Given the description of an element on the screen output the (x, y) to click on. 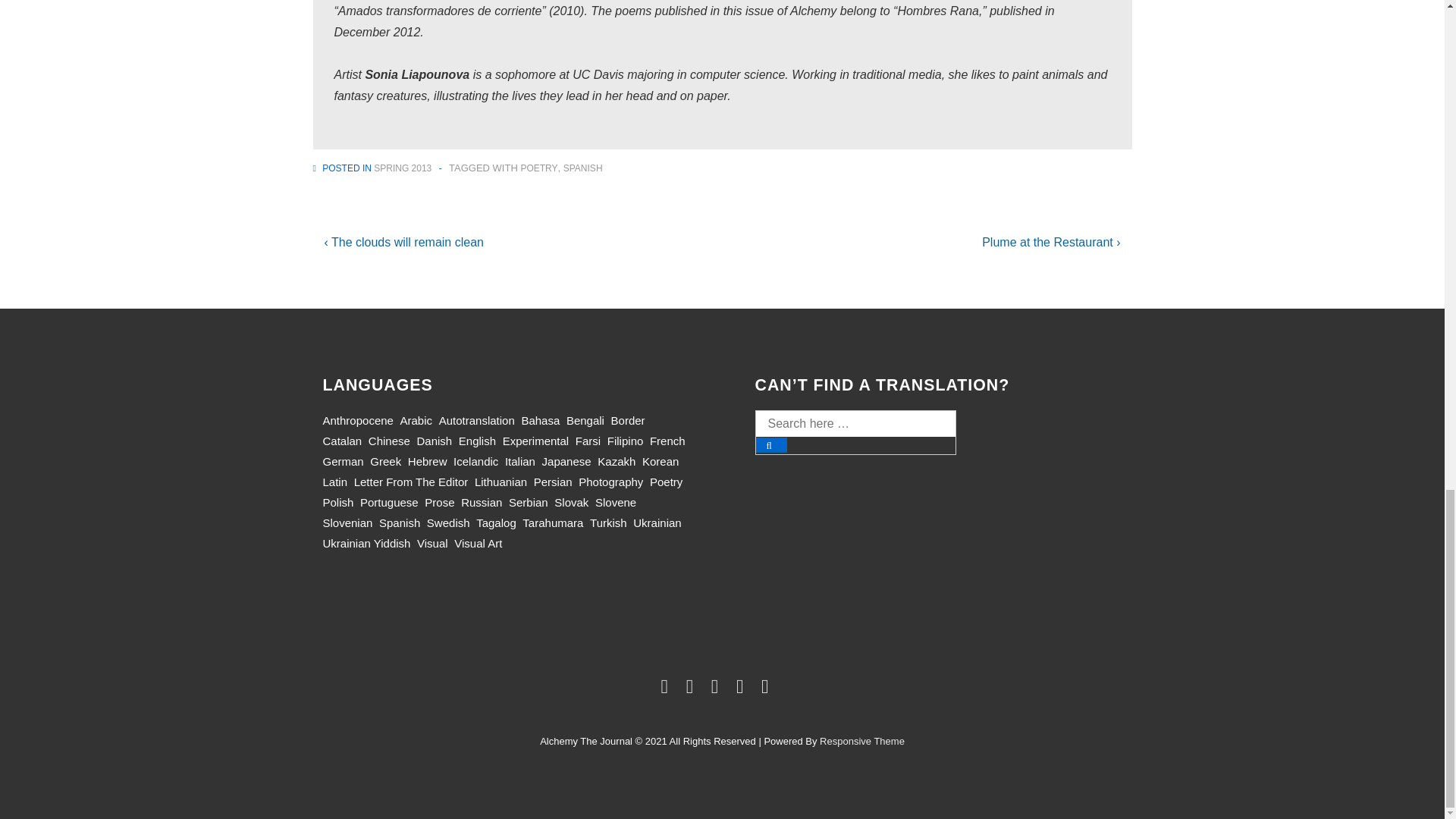
Catalan (342, 440)
instagram (742, 689)
Chinese (389, 440)
POETRY (538, 167)
Anthropocene (358, 420)
Korean (660, 461)
French (667, 440)
Border (628, 420)
Italian (520, 461)
email (767, 689)
